Given the description of an element on the screen output the (x, y) to click on. 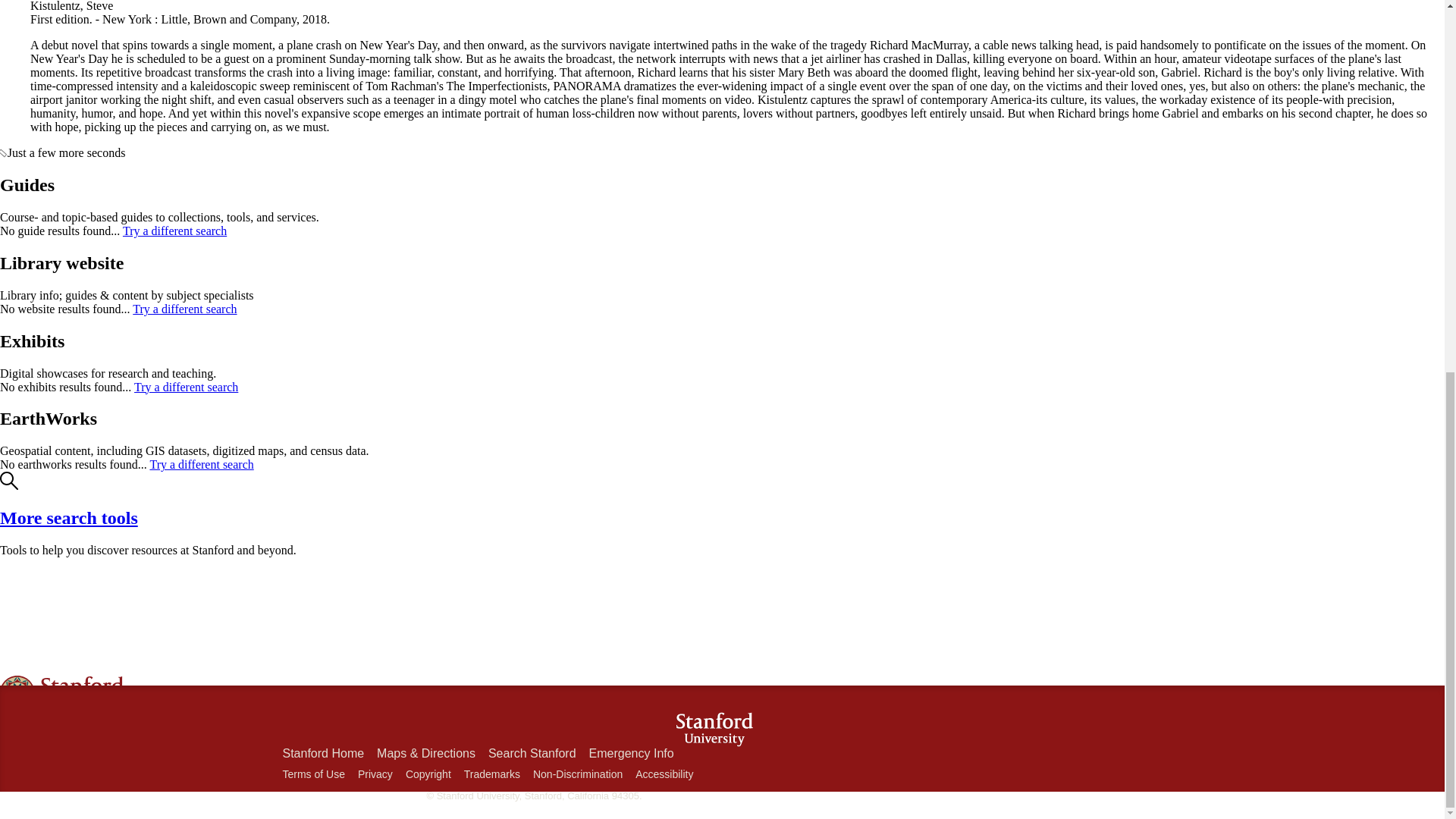
Terms of use for sites (312, 774)
Non-discrimination policy (577, 774)
Try a different search (183, 308)
Stanford Home (323, 753)
Try a different search (201, 463)
Ownership and use of Stanford trademarks and images (491, 774)
Emergency Info (631, 753)
More search tools (69, 517)
System status (63, 771)
Privacy and cookie policy (375, 774)
